Given the description of an element on the screen output the (x, y) to click on. 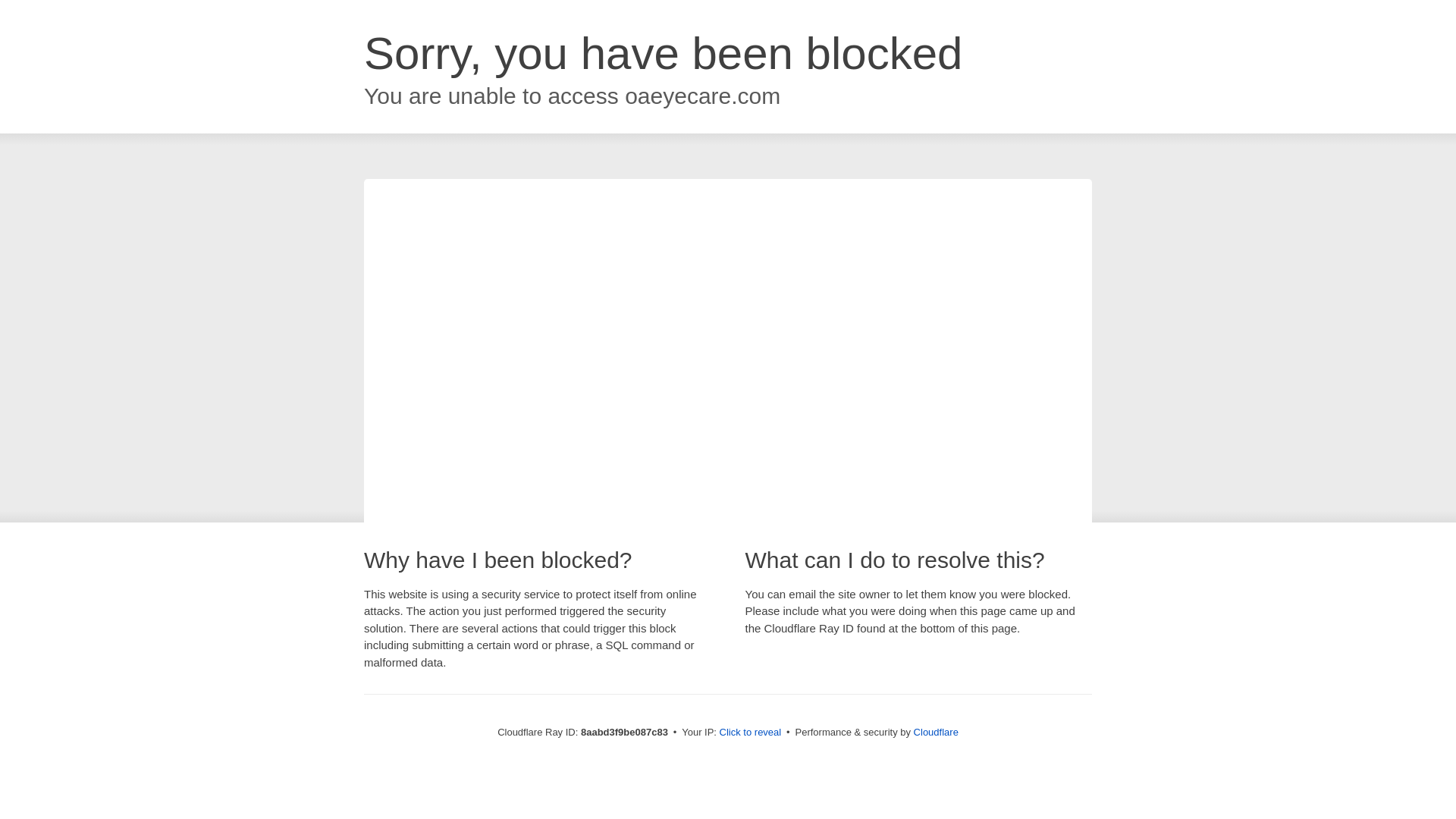
Cloudflare (936, 731)
Click to reveal (750, 732)
